Given the description of an element on the screen output the (x, y) to click on. 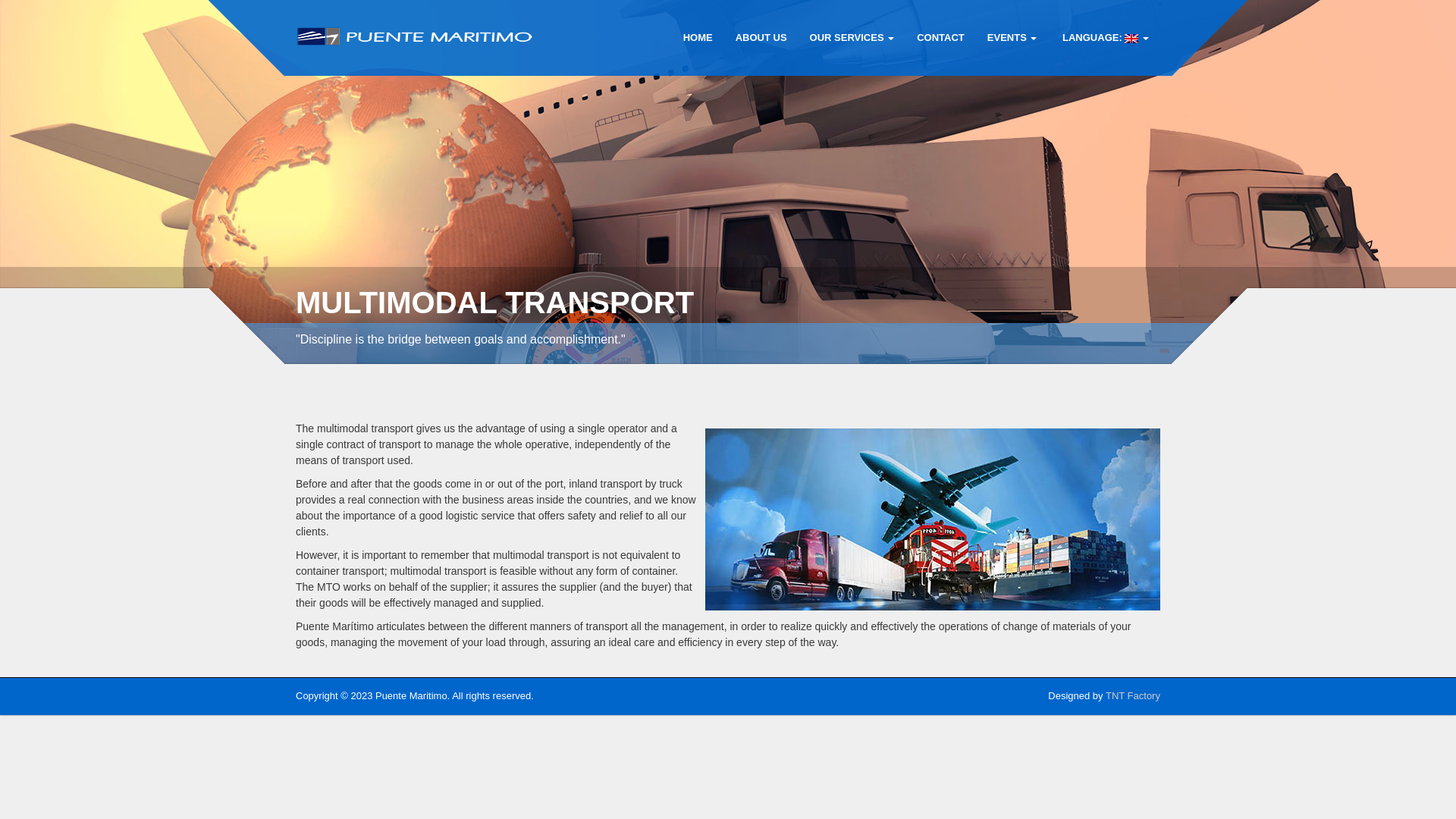
HOME (698, 38)
ABOUT US (761, 38)
ABOUT US (761, 38)
 LANGUAGE:  (1103, 38)
HOME (698, 38)
CONTACT (940, 38)
English (1103, 38)
Events (1012, 38)
EVENTS (1012, 38)
OUR SERVICES (852, 38)
